Given the description of an element on the screen output the (x, y) to click on. 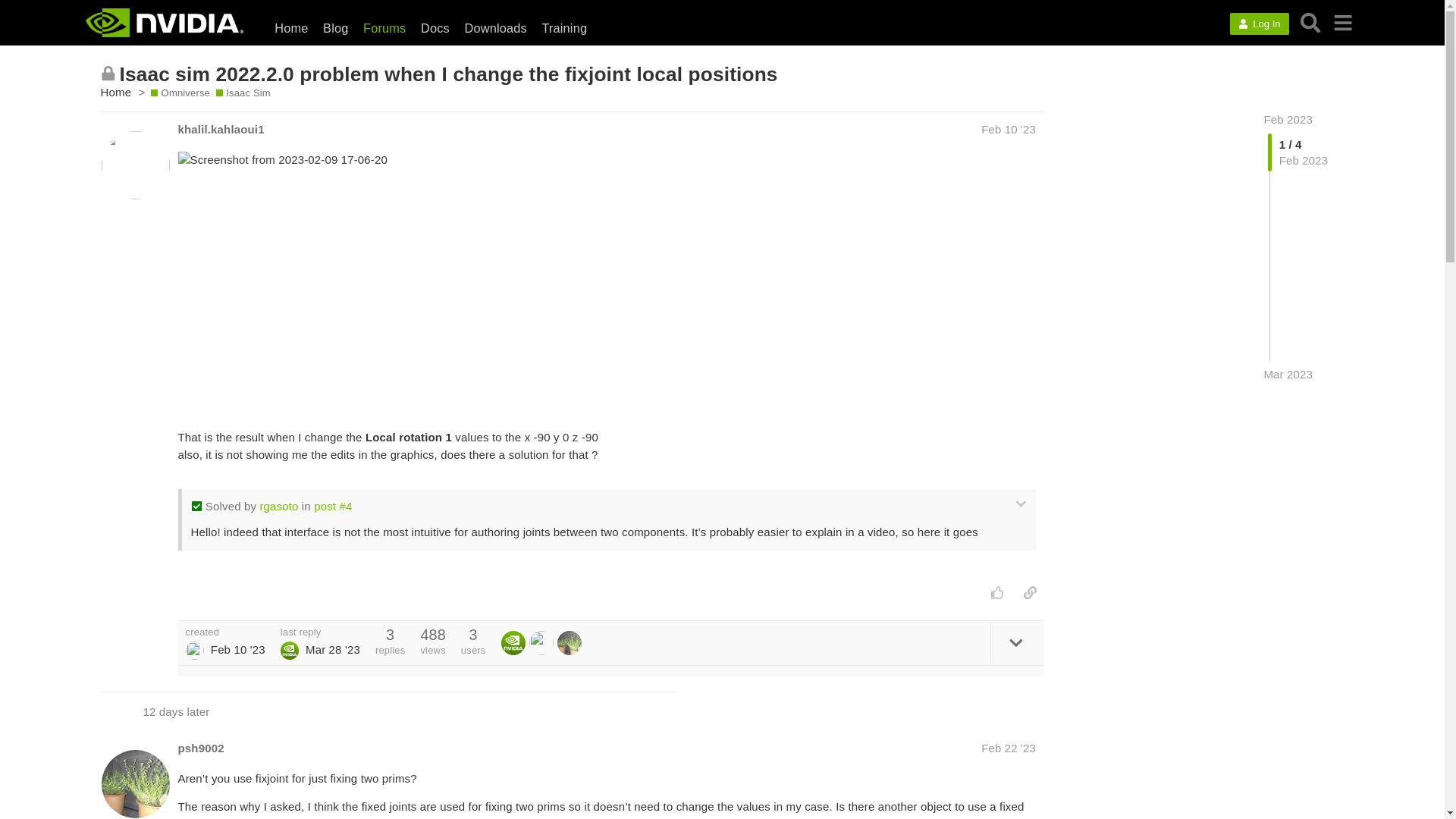
Feb 22 '23 (1008, 748)
Downloads (495, 27)
psh9002 (200, 747)
Omniverse announcements and discussions. (180, 92)
last reply (320, 632)
Isaac Sim (242, 92)
Log In (1259, 24)
rgasoto (278, 505)
Jump to the first post (1288, 119)
Home (290, 27)
Docs (435, 27)
Blog (335, 27)
Post date (1008, 128)
Search the Forums (1310, 22)
